Given the description of an element on the screen output the (x, y) to click on. 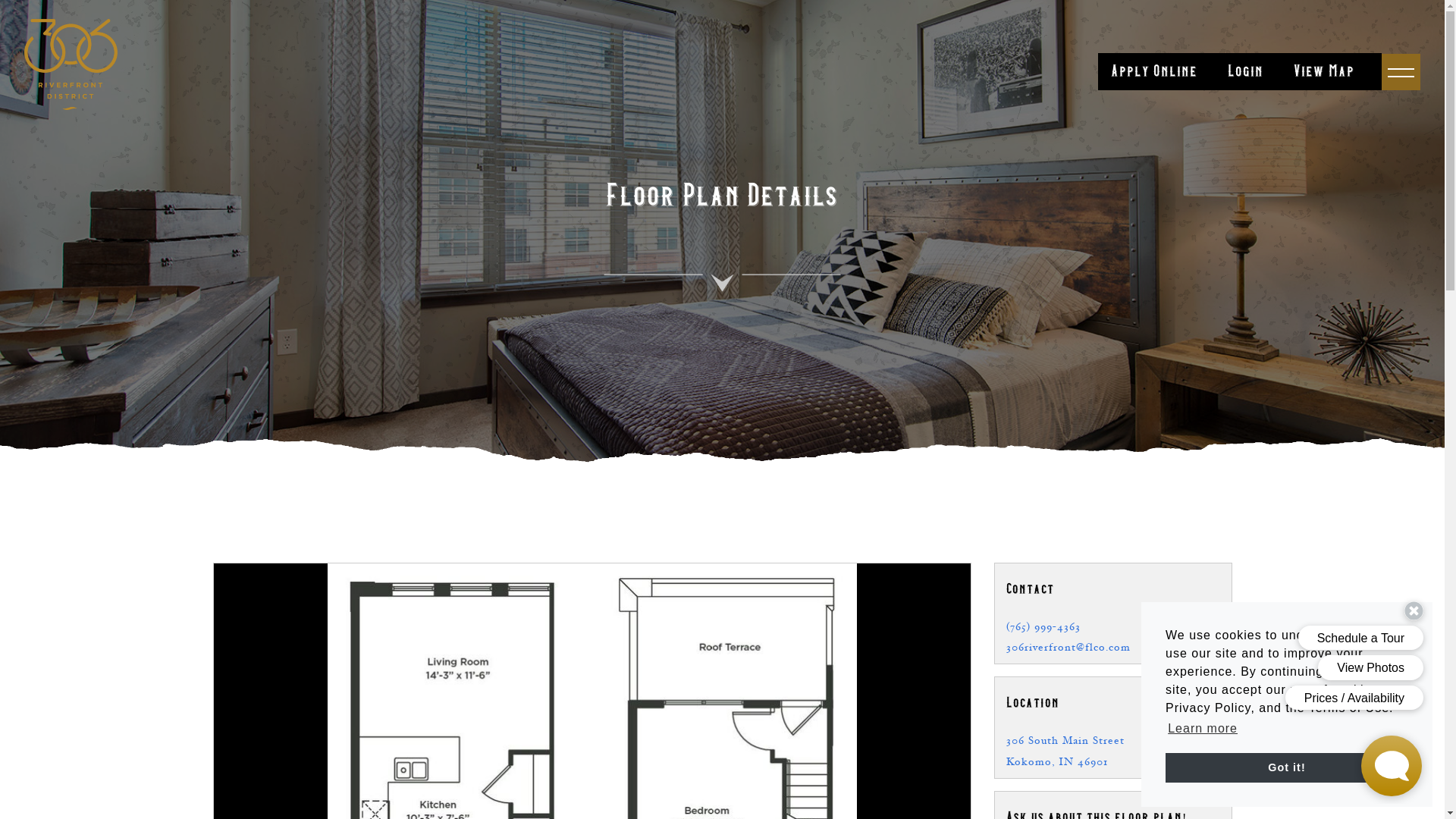
306 South Main Street
Kokomo, IN 46901 Element type: text (1065, 750)
View Map Element type: text (1323, 71)
306riverfront@flco.com Element type: text (1068, 647)
Got it! Element type: text (1286, 767)
(765) 999-4363 Element type: text (1043, 626)
Knock Button Options Element type: hover (1292, 659)
Apply Online Element type: text (1153, 71)
Login Element type: text (1244, 71)
Learn more Element type: text (1202, 728)
Knock Chat Bot Element type: hover (1391, 765)
